Given the description of an element on the screen output the (x, y) to click on. 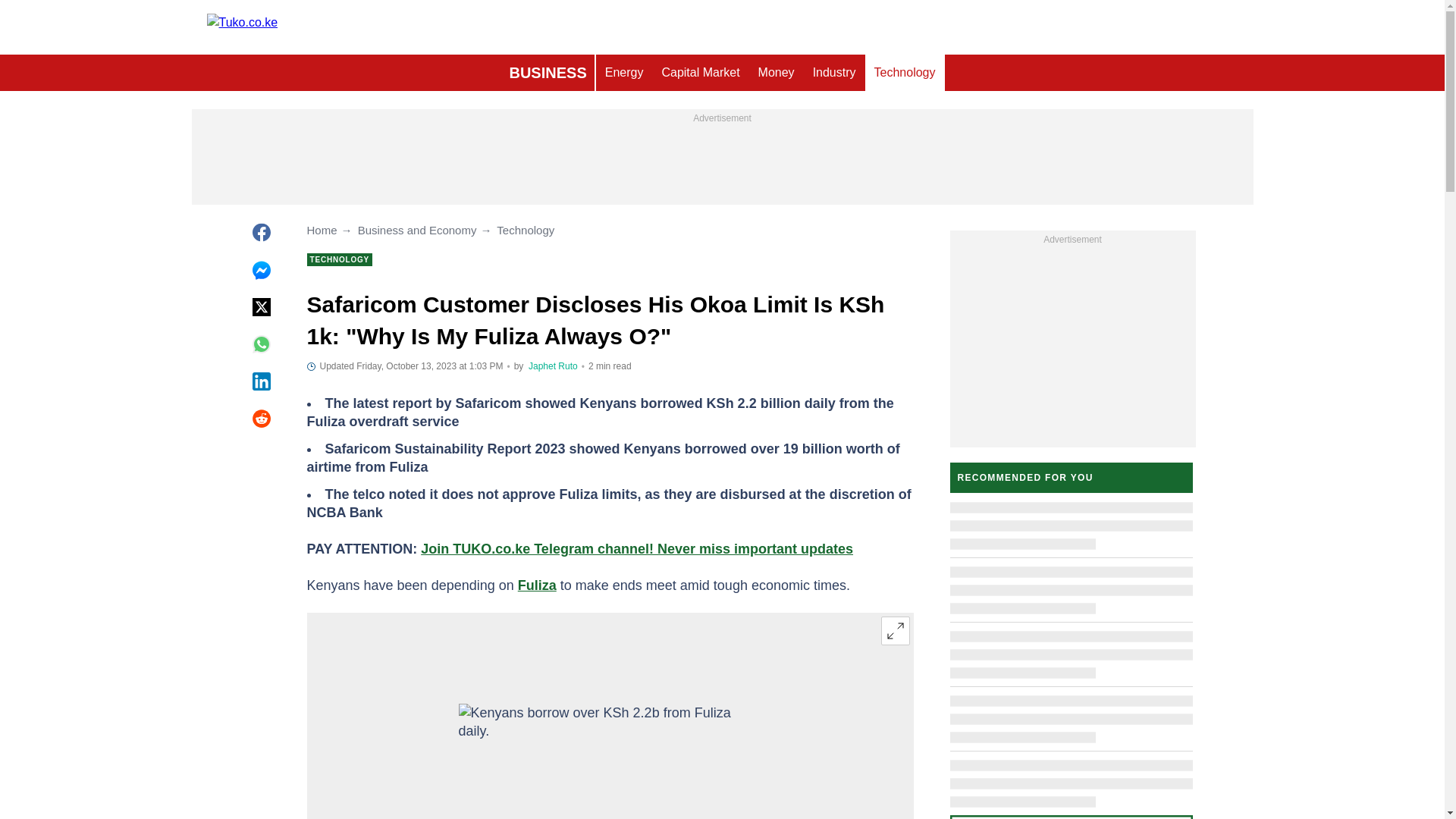
Kenyans borrow over KSh 2.2b from Fuliza daily. (609, 761)
Industry (833, 72)
BUSINESS (547, 72)
Author page (553, 366)
Technology (904, 72)
Capital Market (700, 72)
Money (776, 72)
Energy (623, 72)
Expand image (895, 630)
